Given the description of an element on the screen output the (x, y) to click on. 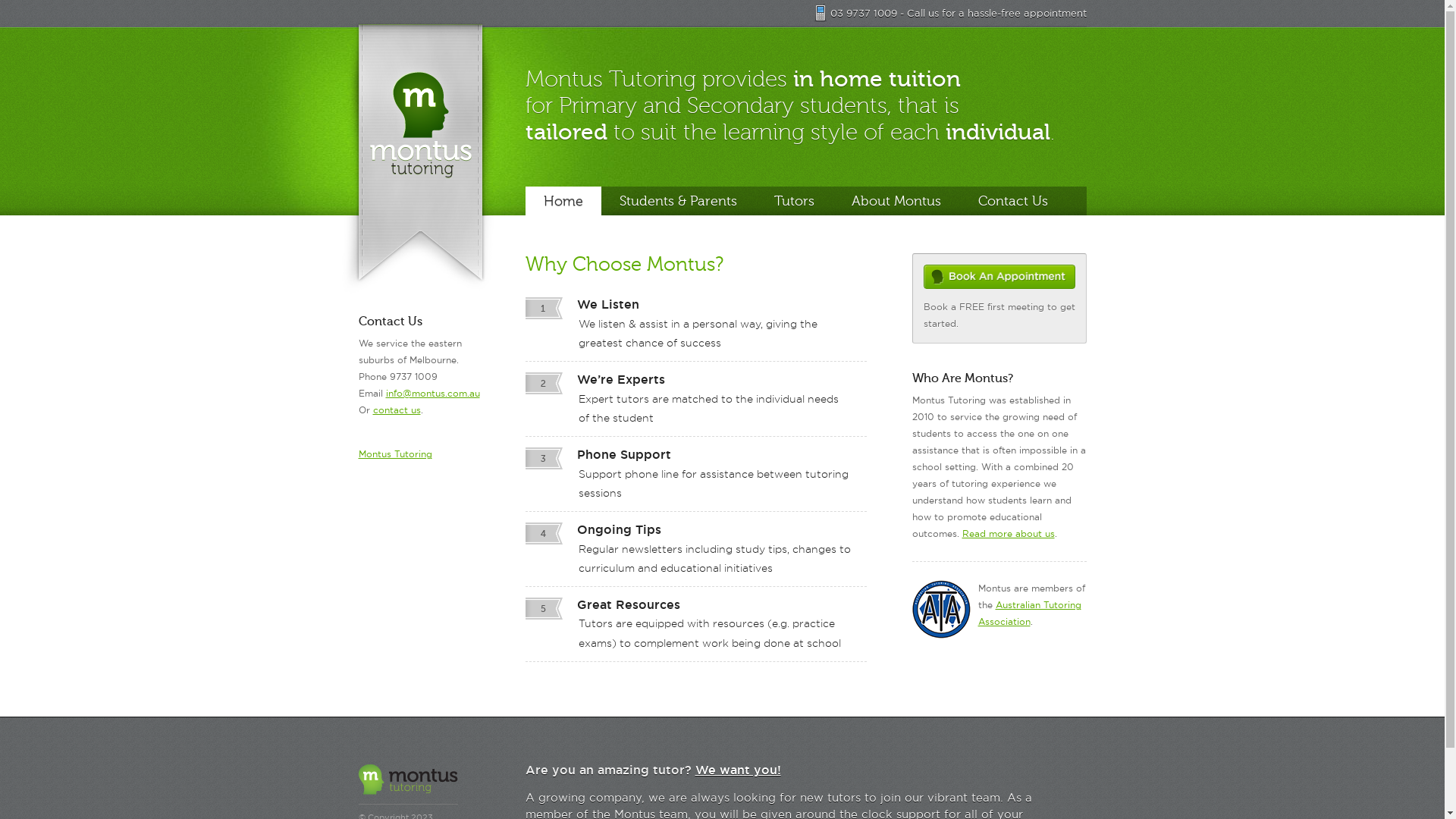
We want you! Element type: text (737, 770)
Australian Tutoring Association Element type: text (1029, 613)
Contact Us Element type: text (1013, 200)
Read more about us Element type: text (1007, 533)
Montus Tutoring Element type: text (394, 453)
About Montus Element type: text (895, 200)
Students & Parents Element type: text (677, 200)
info@montus.com.au Element type: text (432, 393)
Tutors Element type: text (793, 200)
Home Element type: text (562, 200)
contact us Element type: text (396, 409)
03 9737 1009 Element type: text (854, 13)
